Given the description of an element on the screen output the (x, y) to click on. 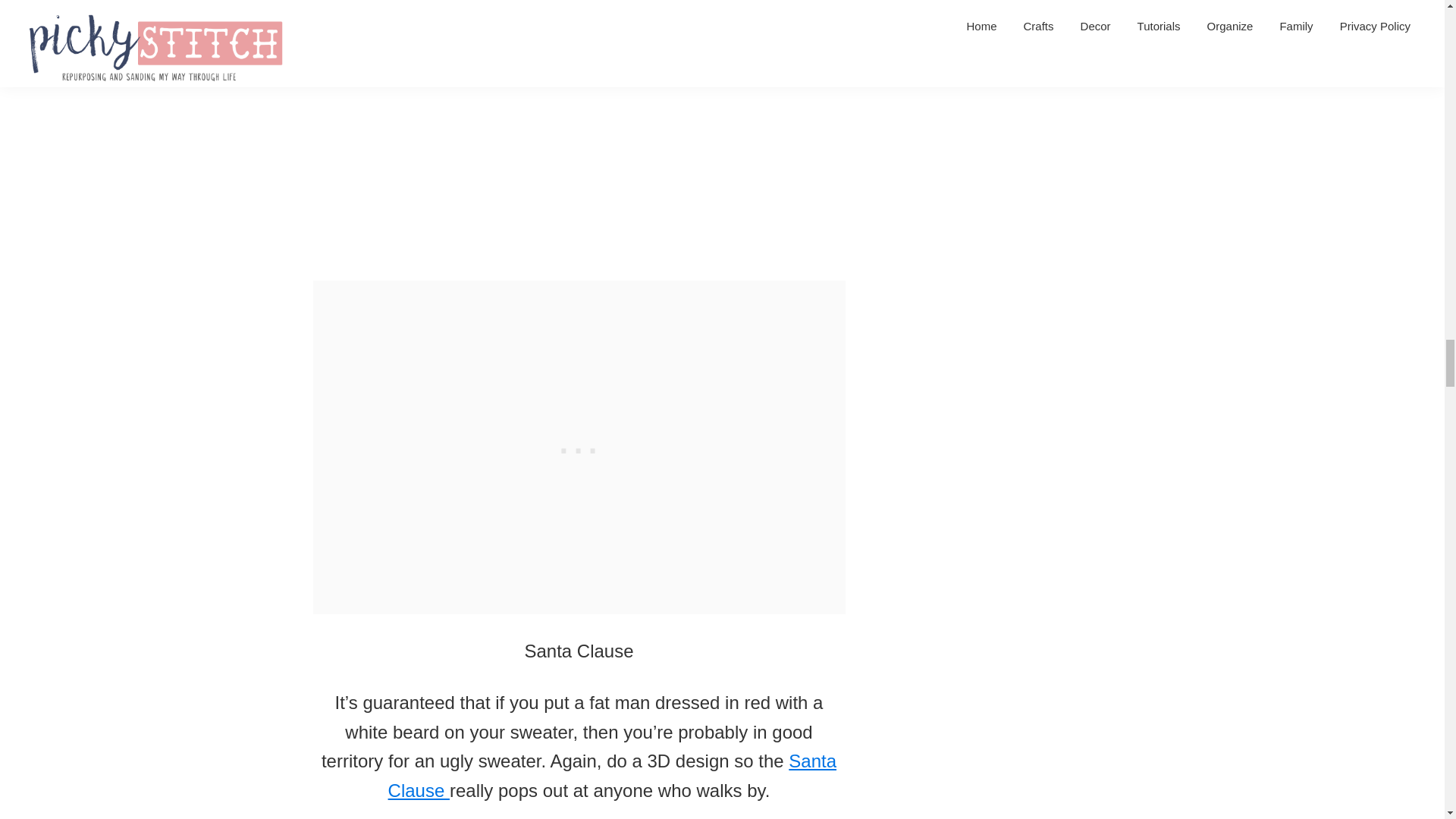
Santa Clause (611, 775)
